Given the description of an element on the screen output the (x, y) to click on. 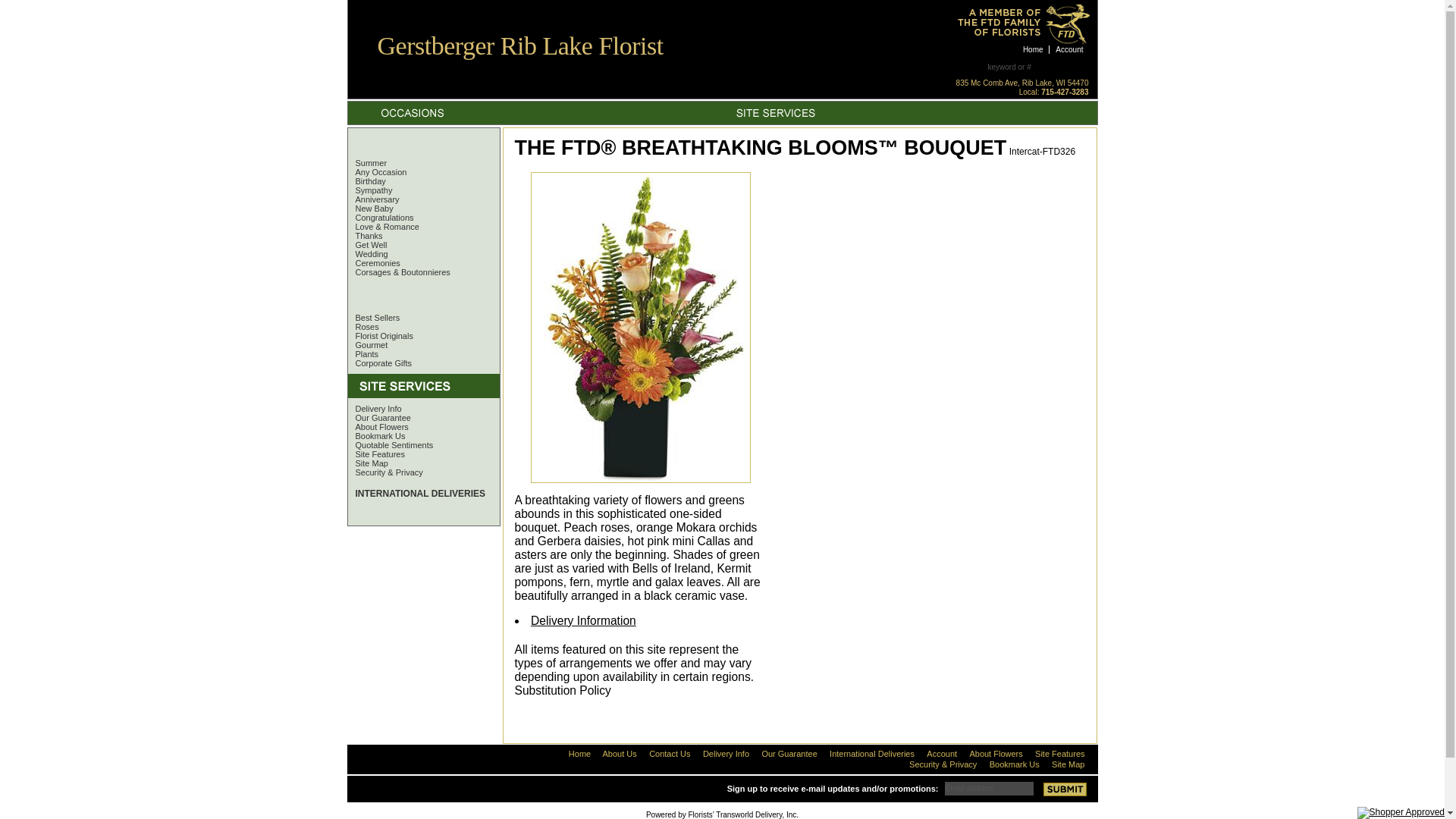
Home (1033, 49)
Email address (988, 787)
Account (1069, 49)
Summer (367, 162)
